Given the description of an element on the screen output the (x, y) to click on. 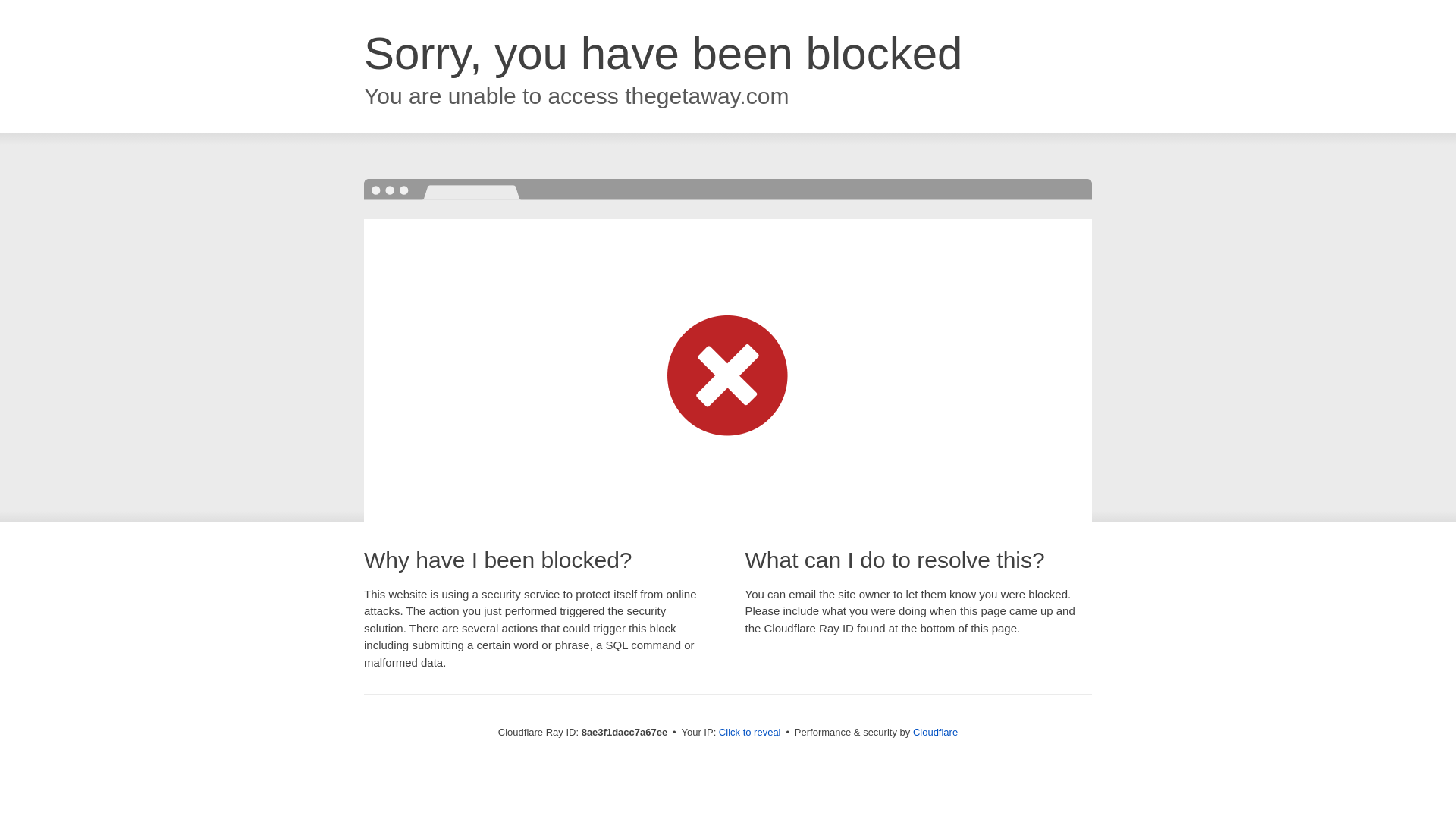
Cloudflare (935, 731)
Click to reveal (749, 732)
